Given the description of an element on the screen output the (x, y) to click on. 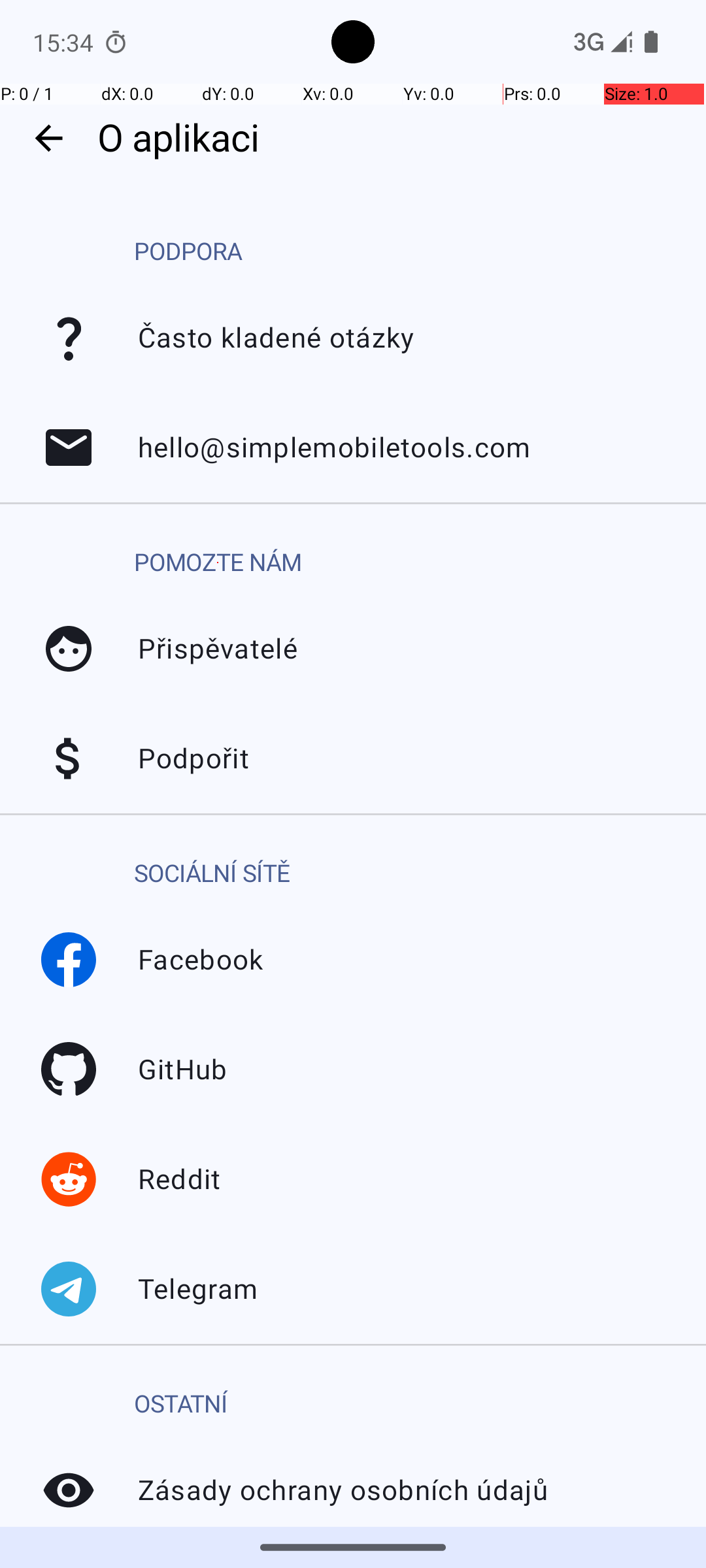
PODPORA Element type: android.widget.TextView (187, 251)
POMOZTE NÁM Element type: android.widget.TextView (217, 562)
SOCIÁLNÍ SÍTĚ Element type: android.widget.TextView (211, 873)
OSTATNÍ Element type: android.widget.TextView (181, 1404)
O aplikaci Element type: android.widget.TextView (394, 138)
Často kladené otázky Element type: android.view.View (68, 337)
Přispěvatelé Element type: android.view.View (68, 648)
Podpořit Element type: android.view.View (68, 758)
Zásady ochrany osobních údajů Element type: android.view.View (68, 1489)
Zpět Element type: android.view.View (48, 137)
